Given the description of an element on the screen output the (x, y) to click on. 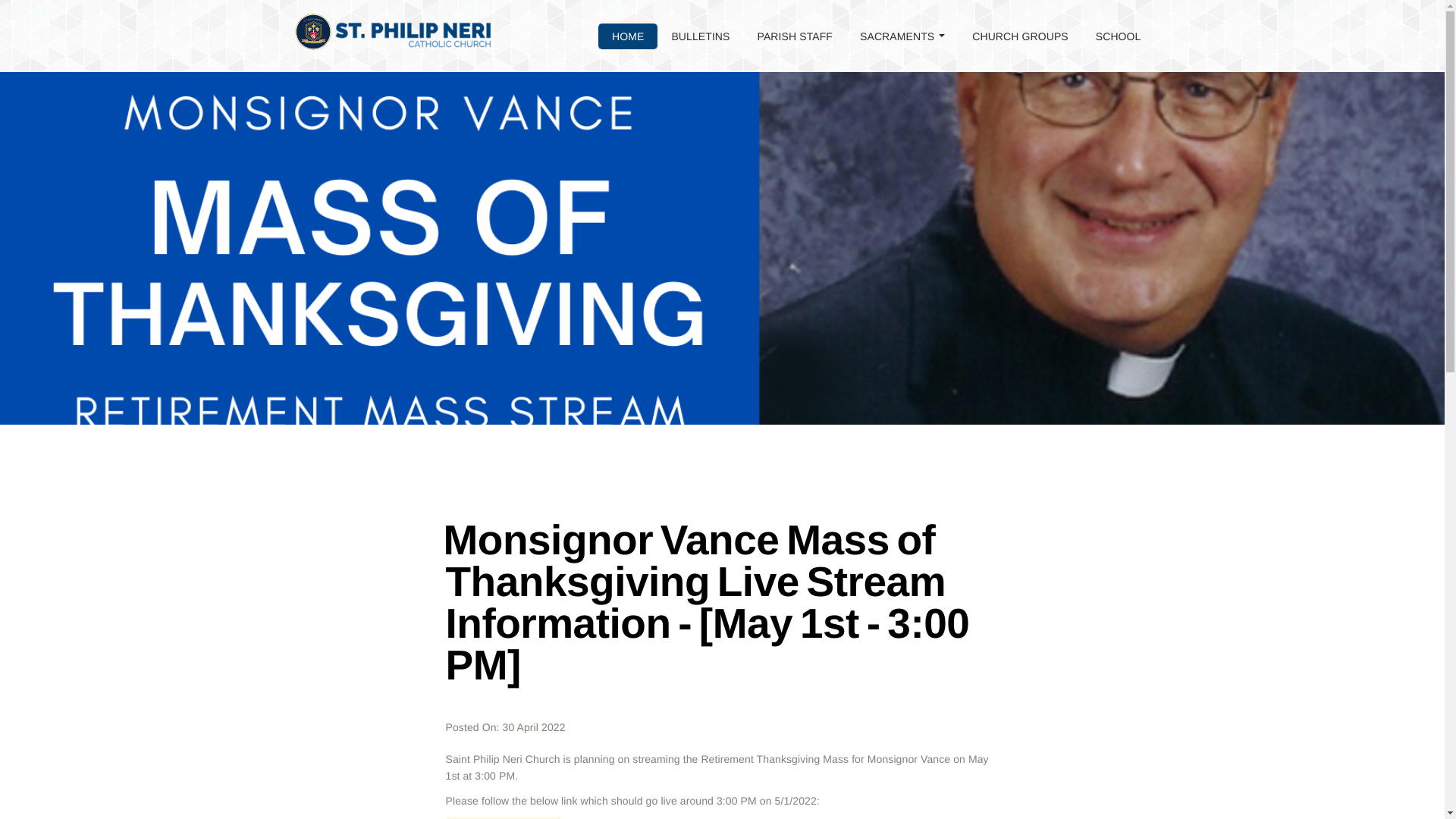
PARISH STAFF (794, 36)
BULLETINS (700, 36)
SCHOOL (1117, 36)
SACRAMENTS (901, 36)
HOME (628, 36)
CHURCH GROUPS (1019, 36)
